Given the description of an element on the screen output the (x, y) to click on. 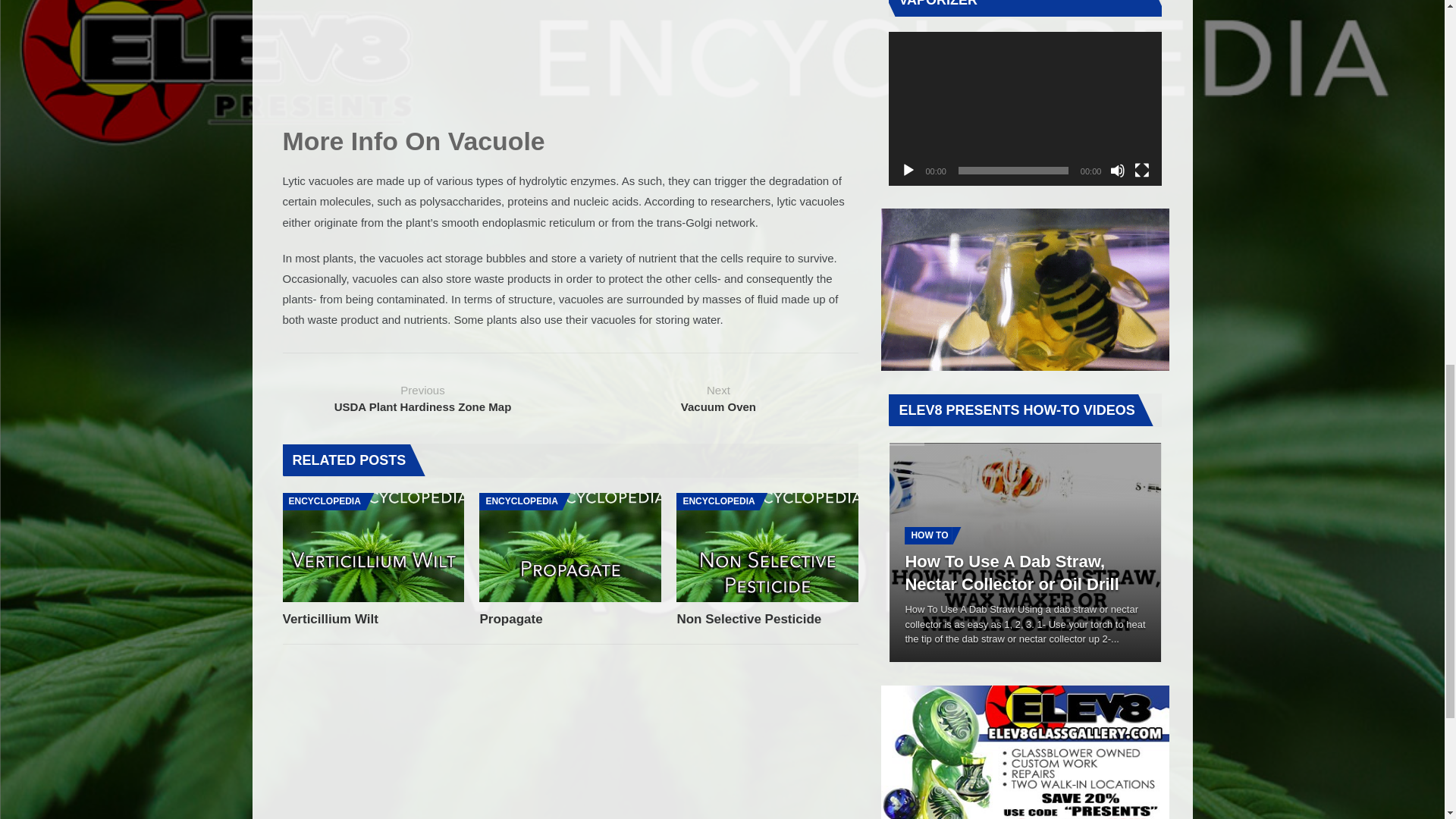
Fullscreen (1142, 170)
Play (908, 170)
Mute (1117, 170)
